Given the description of an element on the screen output the (x, y) to click on. 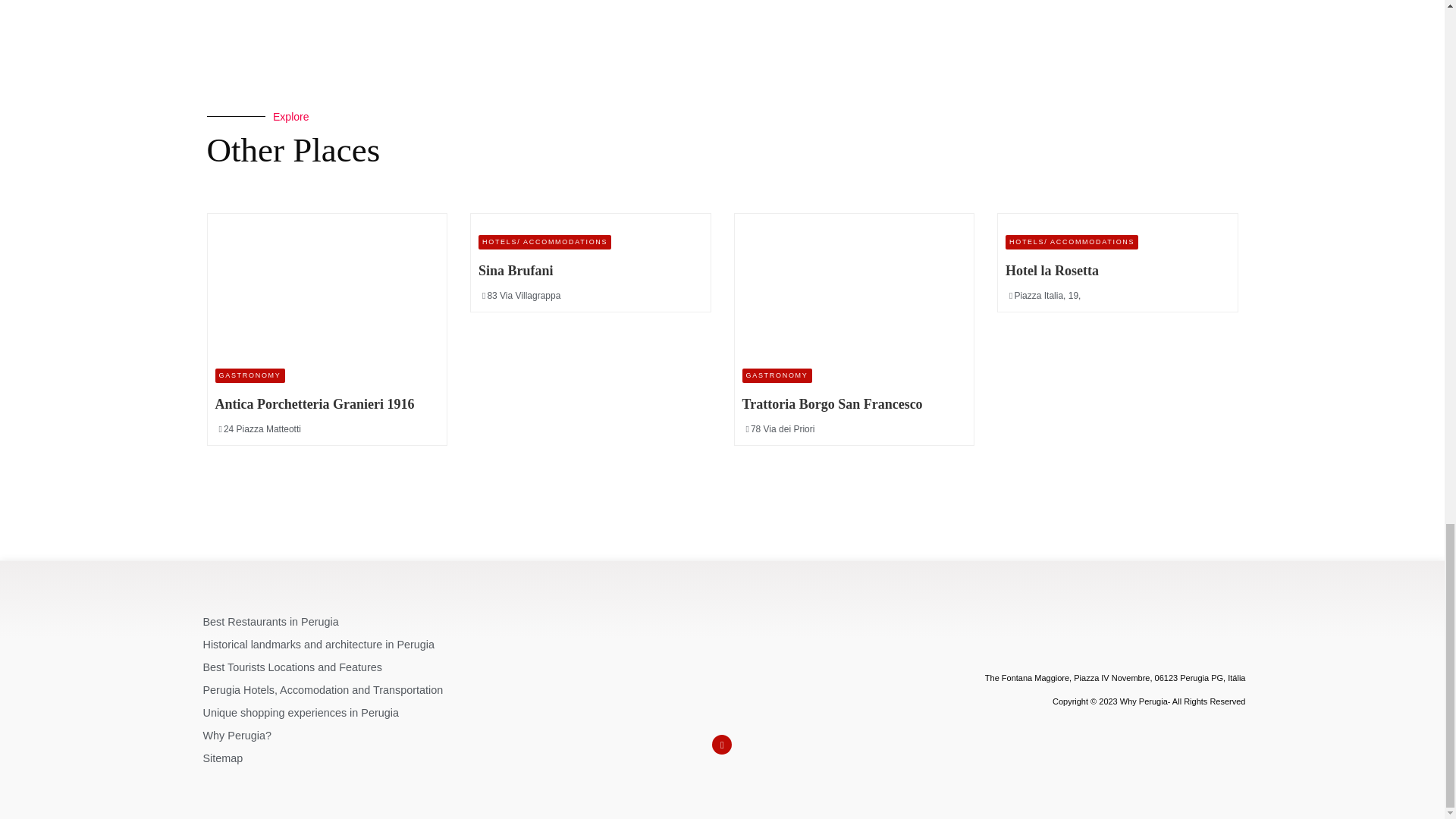
83 Via Villagrappa (521, 295)
24 Piazza Matteotti (259, 428)
Antica Porchetteria Granieri 1916 (314, 403)
GASTRONOMY (250, 375)
GASTRONOMY (775, 375)
Antica Porchetteria Granieri 1916 (327, 288)
Sina Brufani (516, 270)
